Given the description of an element on the screen output the (x, y) to click on. 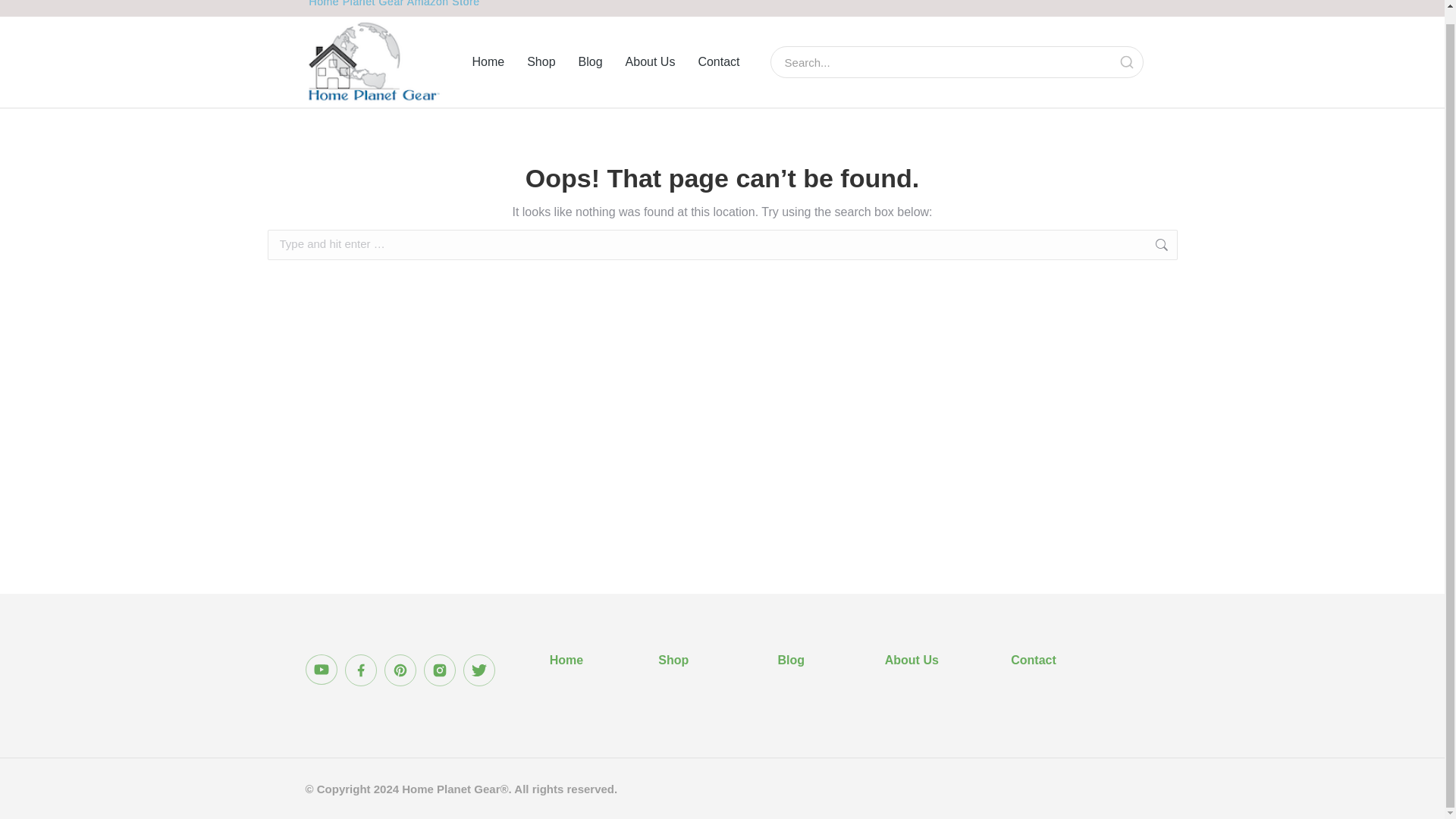
Go! (1200, 245)
Home Planet Gear Amazon Store (394, 3)
Search (1125, 62)
Search (941, 61)
Shop (673, 659)
Go! (1200, 245)
Blog (590, 61)
Go! (1200, 245)
Home (487, 61)
Contact (1033, 659)
About Us (650, 61)
Blog (791, 659)
About Us (912, 659)
Shop (540, 61)
Contact (718, 61)
